Given the description of an element on the screen output the (x, y) to click on. 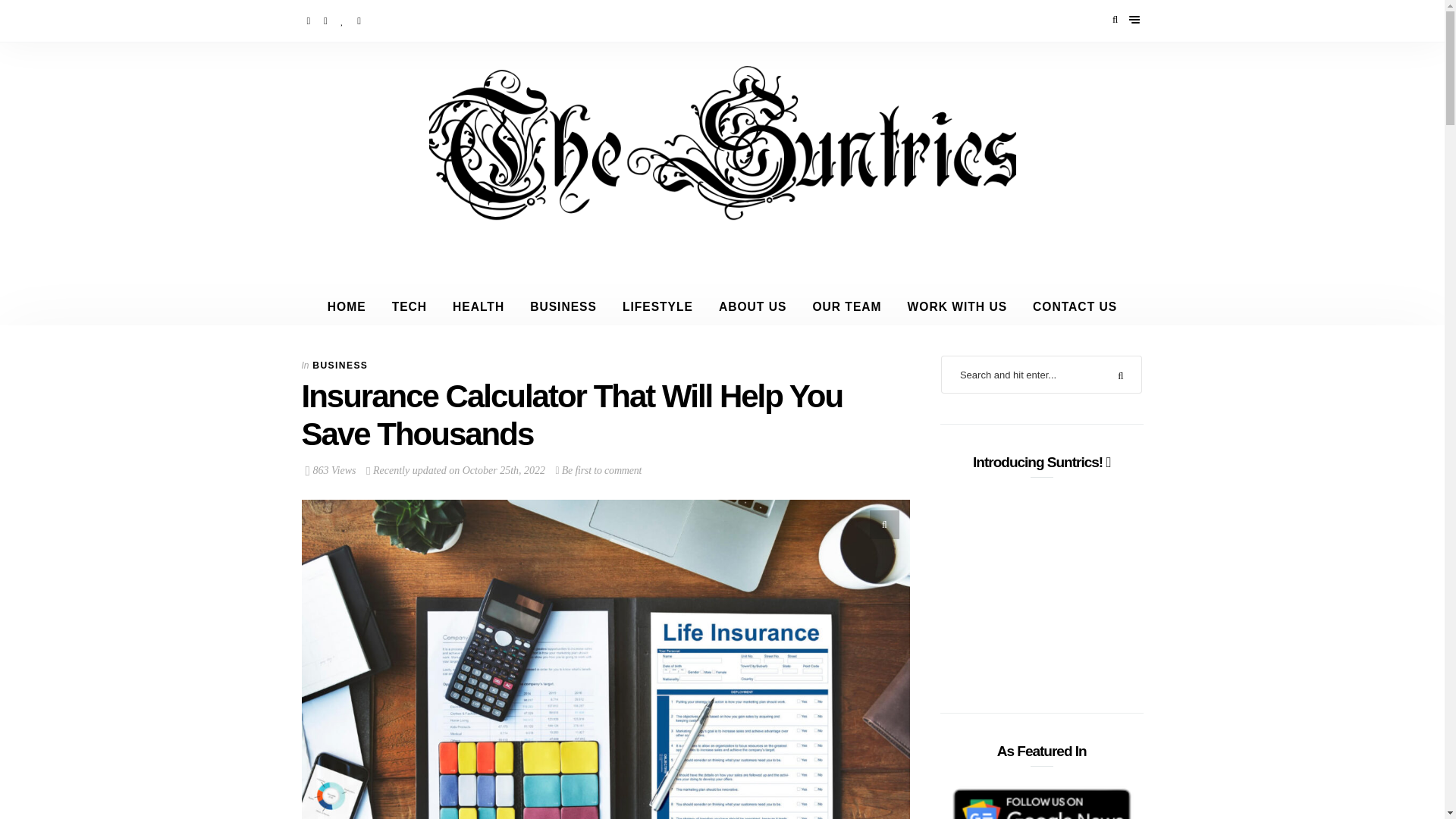
HEALTH (477, 307)
Twitter (326, 20)
HOME (346, 307)
WORK WITH US (957, 307)
ABOUT US (752, 307)
CONTACT US (1074, 307)
Facebook (309, 20)
BUSINESS (340, 365)
TECH (408, 307)
LIFESTYLE (658, 307)
Pinterest (360, 20)
BUSINESS (563, 307)
OUR TEAM (846, 307)
Bloglovin (343, 20)
